Given the description of an element on the screen output the (x, y) to click on. 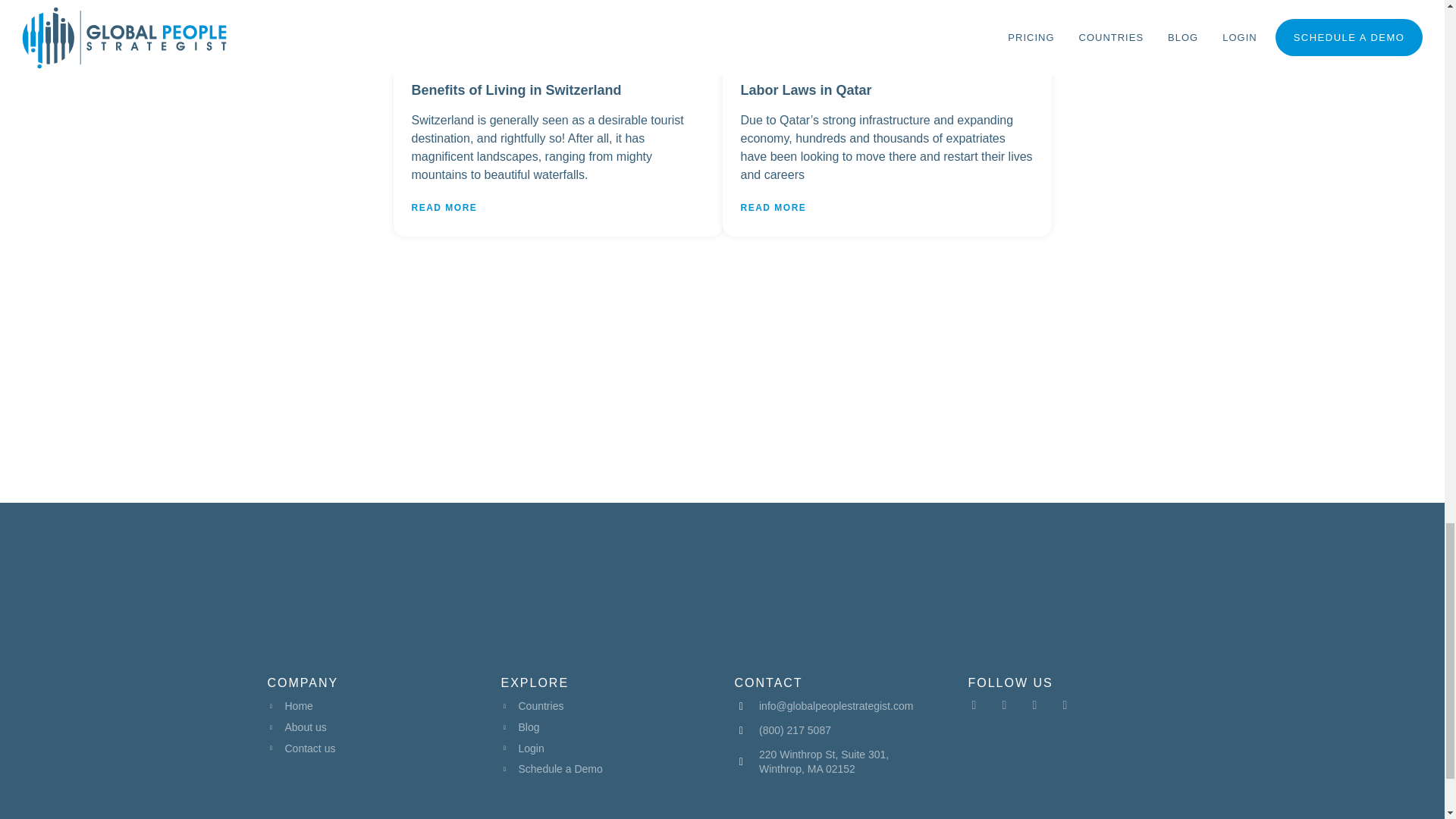
READ MORE (772, 207)
Home (371, 706)
Blog (605, 727)
Login (605, 749)
About us (371, 727)
READ MORE (443, 207)
Countries (605, 706)
Labor Laws in Qatar (804, 89)
Schedule a Demo (605, 769)
Contact us (371, 749)
Benefits of Living in Switzerland (515, 89)
